Given the description of an element on the screen output the (x, y) to click on. 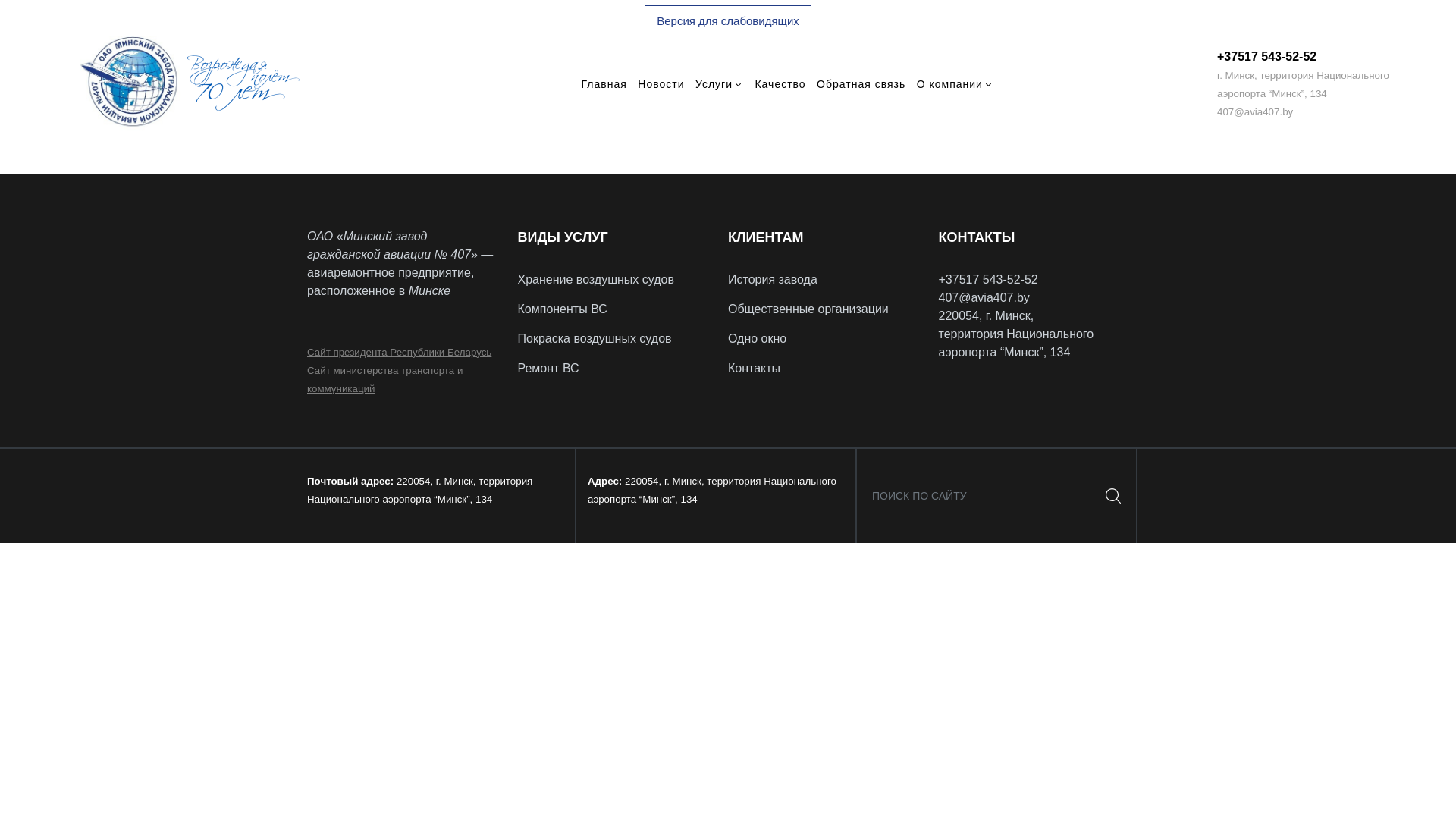
+37517 543-52-52 Element type: text (1266, 56)
407@avia407.by Element type: text (1254, 110)
